Given the description of an element on the screen output the (x, y) to click on. 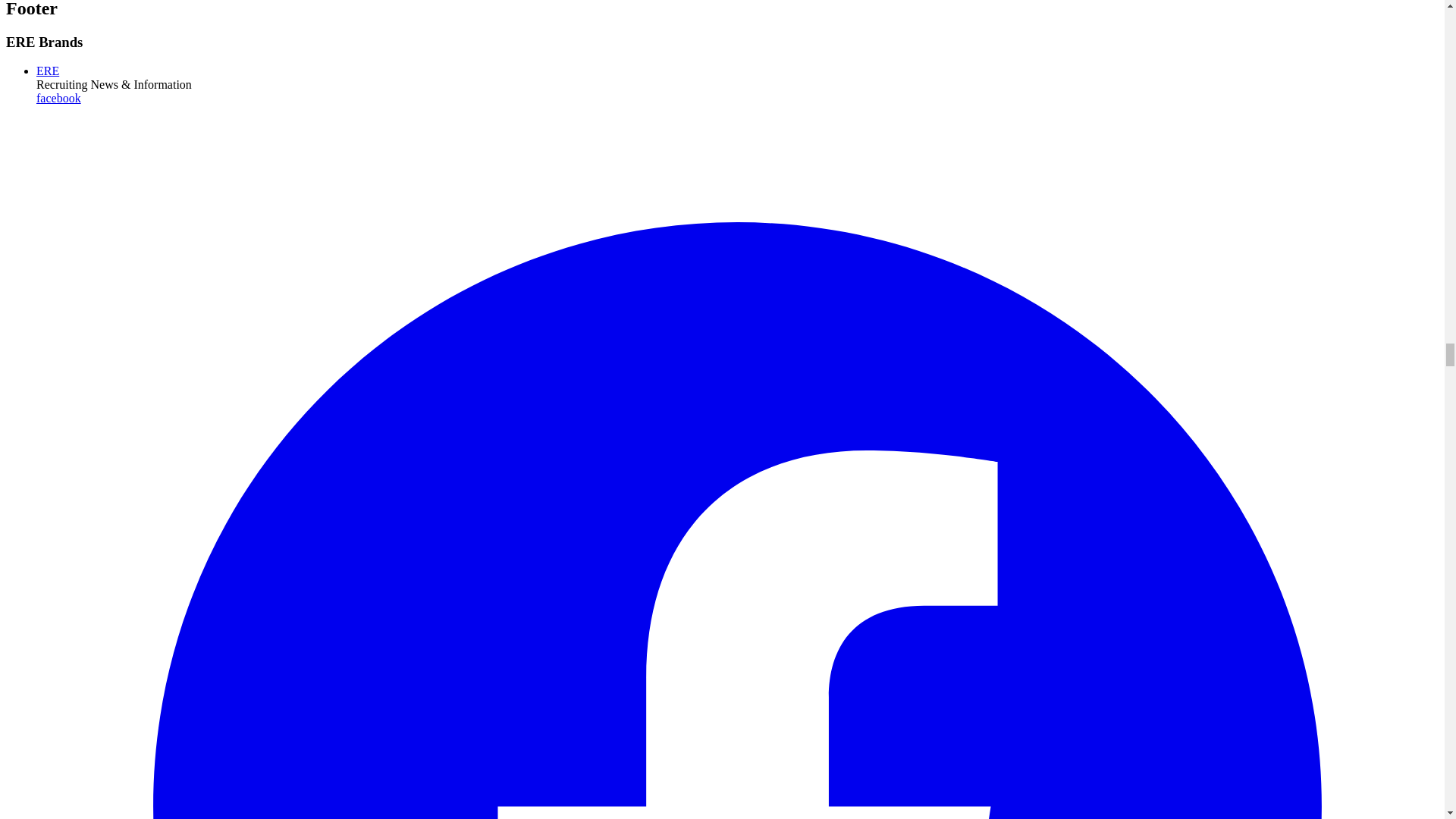
ERE (47, 70)
